Given the description of an element on the screen output the (x, y) to click on. 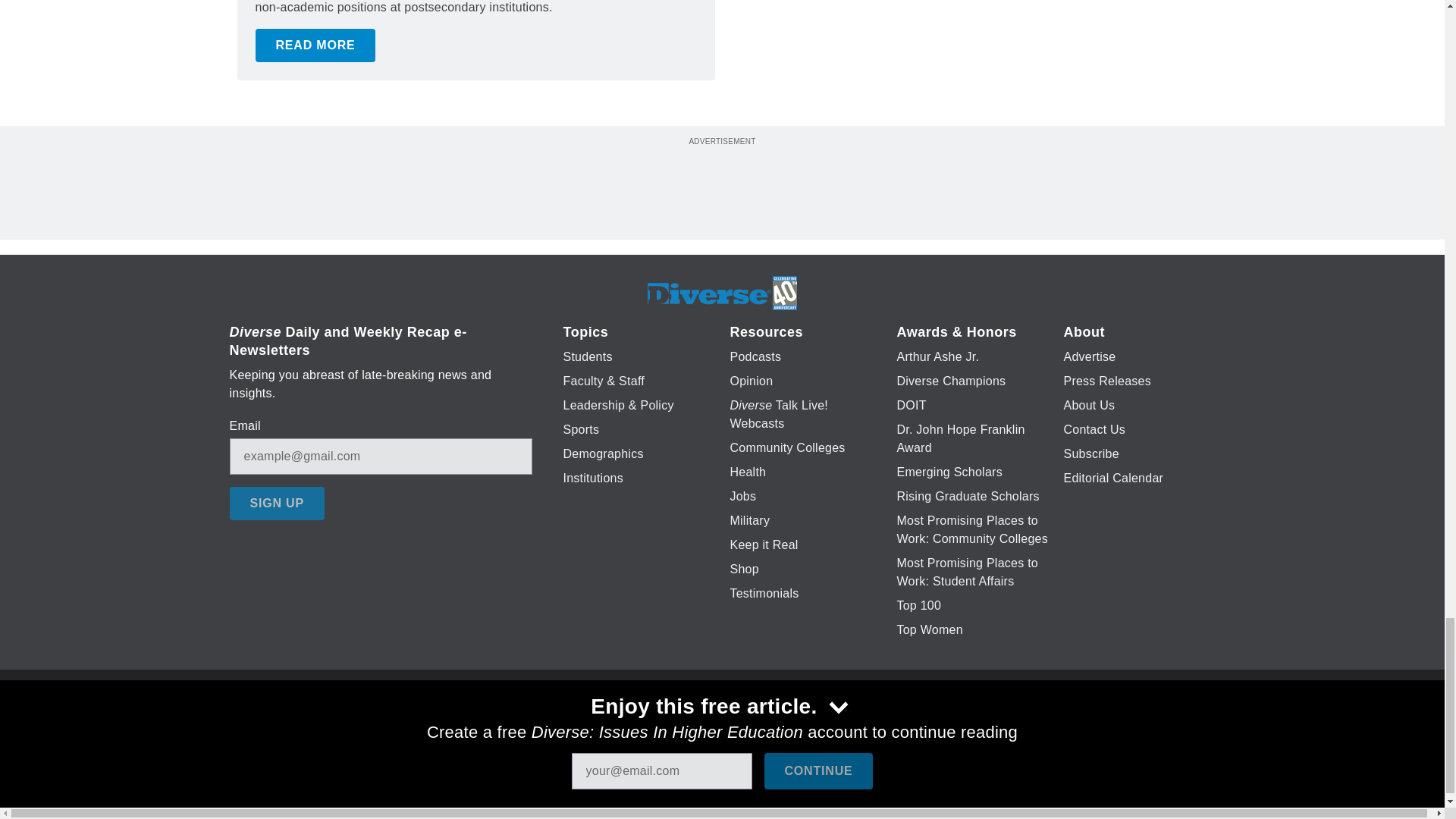
Instagram icon (796, 727)
Facebook icon (635, 727)
YouTube icon (757, 727)
LinkedIn icon (718, 727)
Twitter X icon (674, 727)
